Given the description of an element on the screen output the (x, y) to click on. 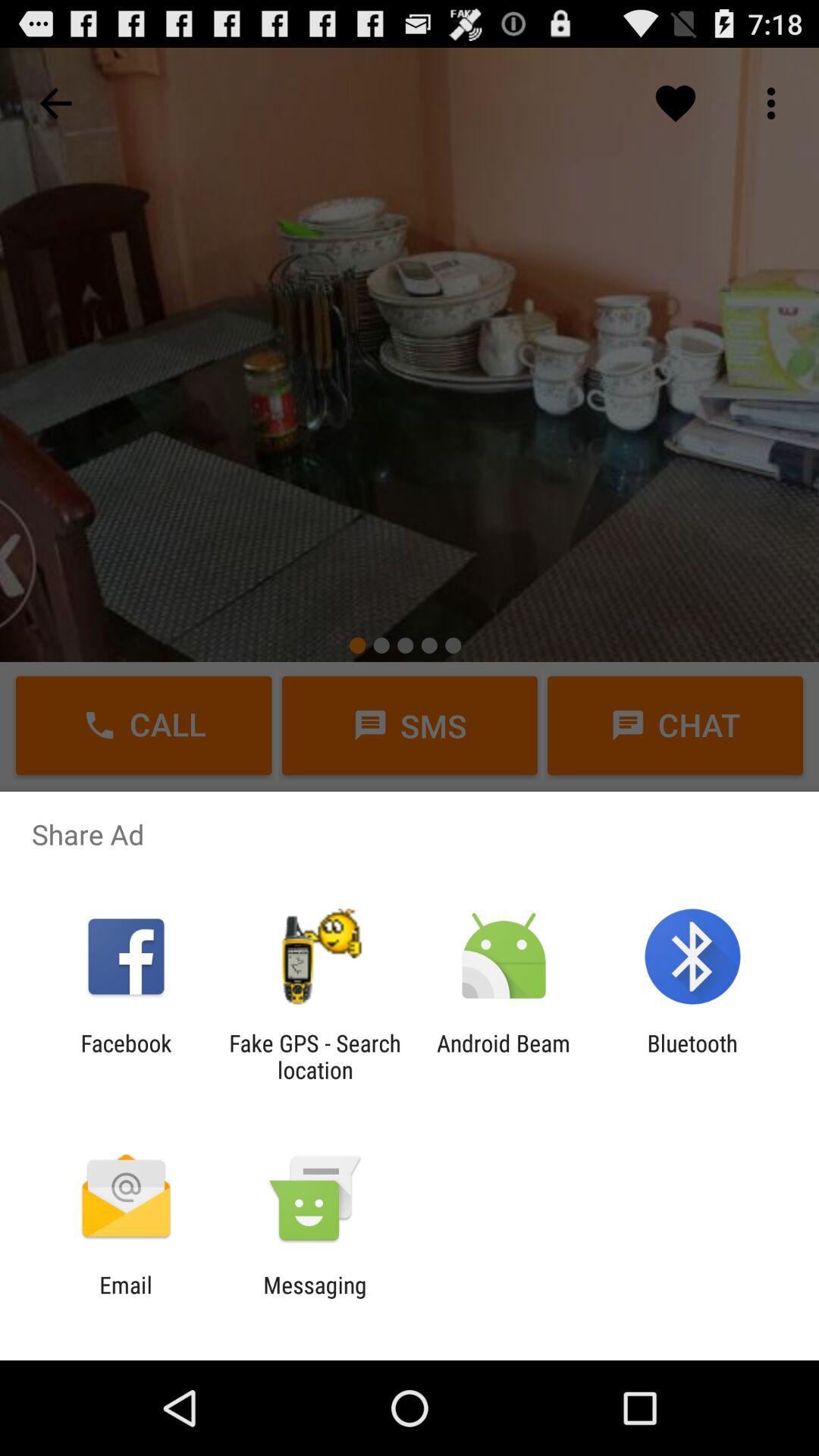
select the icon to the left of fake gps search app (125, 1056)
